Given the description of an element on the screen output the (x, y) to click on. 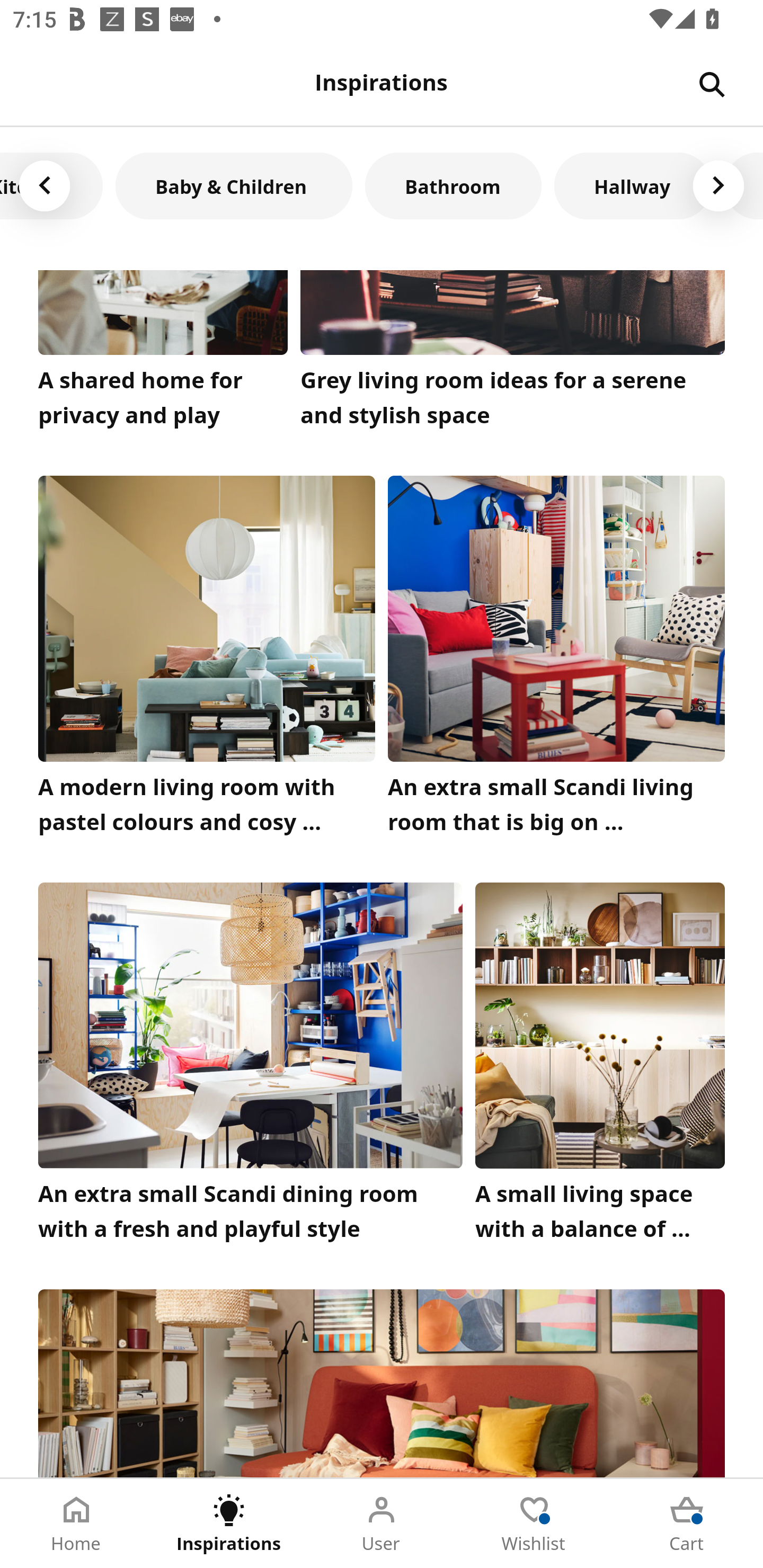
Baby & Children  (233, 185)
Bathroom (452, 185)
Hallway (632, 185)
A shared home for privacy and play (162, 353)
A modern living room with an element of suprise (381, 1382)
Home
Tab 1 of 5 (76, 1522)
Inspirations
Tab 2 of 5 (228, 1522)
User
Tab 3 of 5 (381, 1522)
Wishlist
Tab 4 of 5 (533, 1522)
Cart
Tab 5 of 5 (686, 1522)
